Given the description of an element on the screen output the (x, y) to click on. 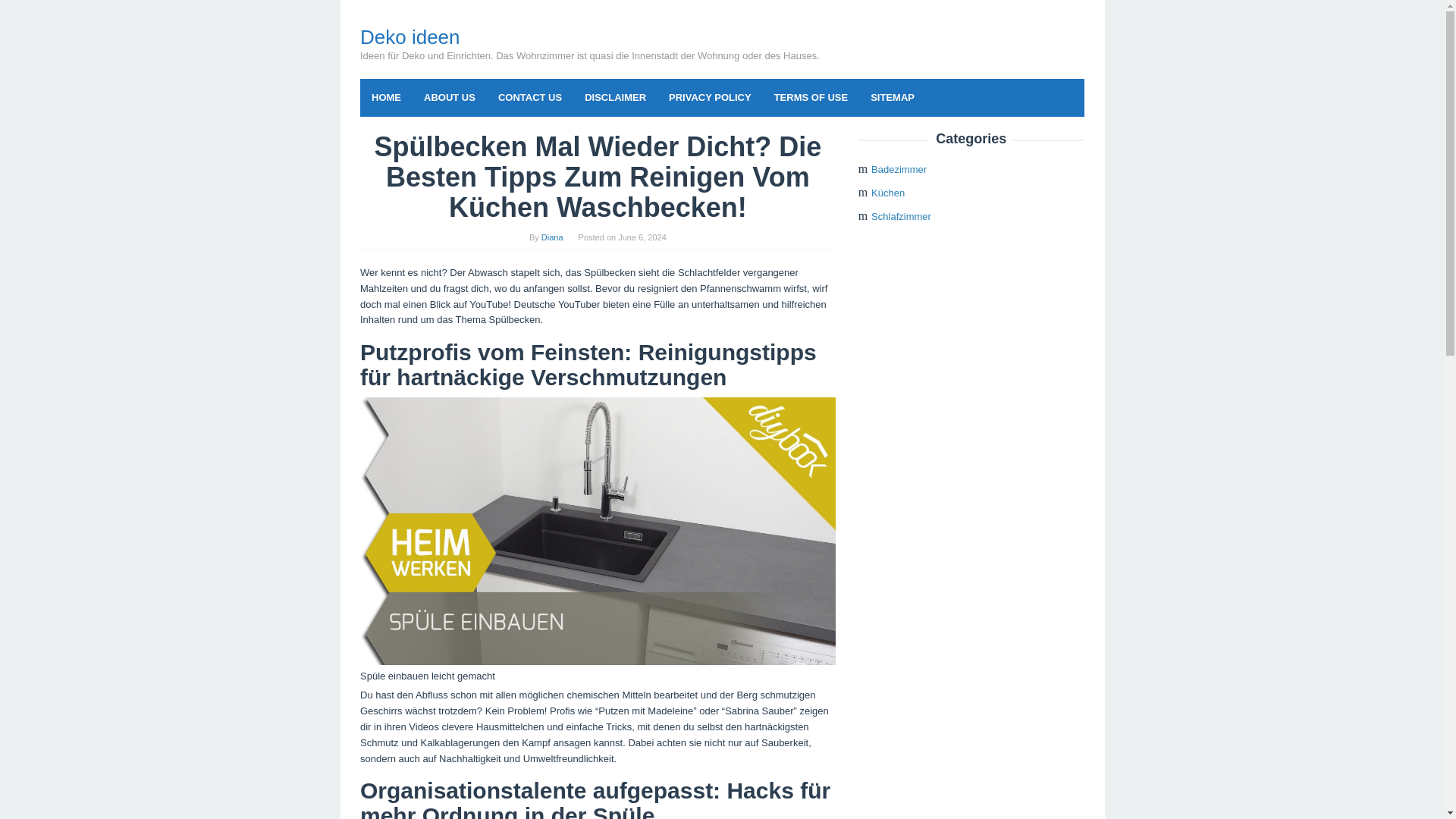
PRIVACY POLICY (710, 97)
Deko ideen (409, 36)
Schlafzimmer (900, 215)
Badezimmer (898, 169)
Deko ideen (409, 36)
CONTACT US (529, 97)
Permalink to: Diana (552, 236)
SITEMAP (892, 97)
DISCLAIMER (615, 97)
ABOUT US (449, 97)
HOME (385, 97)
Diana (552, 236)
TERMS OF USE (811, 97)
